Given the description of an element on the screen output the (x, y) to click on. 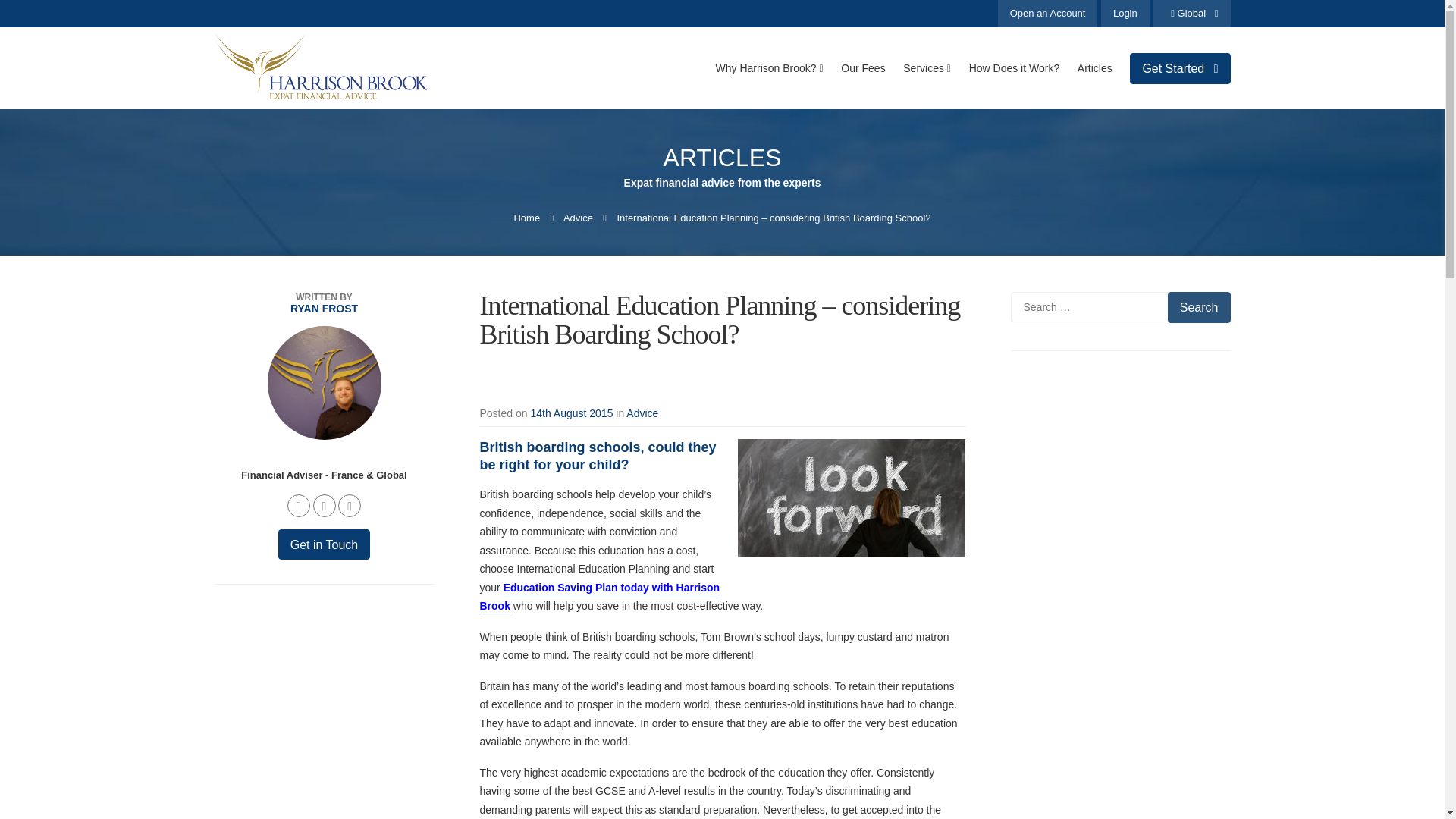
Search (1198, 306)
Get in Touch (324, 544)
How Does it Work? (1014, 67)
14th August 2015 (570, 413)
Global (1191, 13)
Home (526, 217)
RYAN FROST (323, 308)
Search (1198, 306)
